Given the description of an element on the screen output the (x, y) to click on. 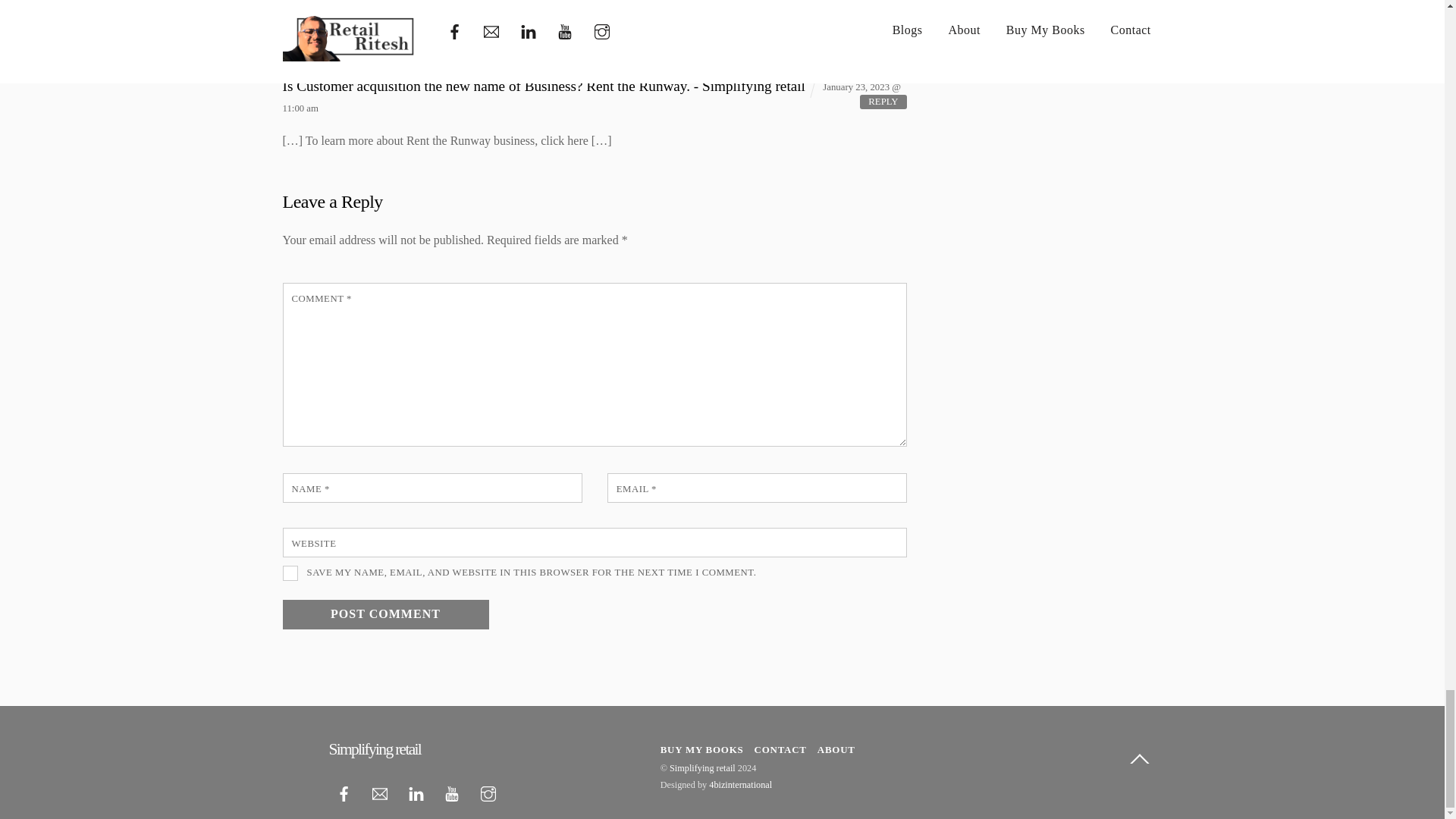
Post Comment (384, 614)
yes (289, 572)
Simplifying retail (374, 749)
